Given the description of an element on the screen output the (x, y) to click on. 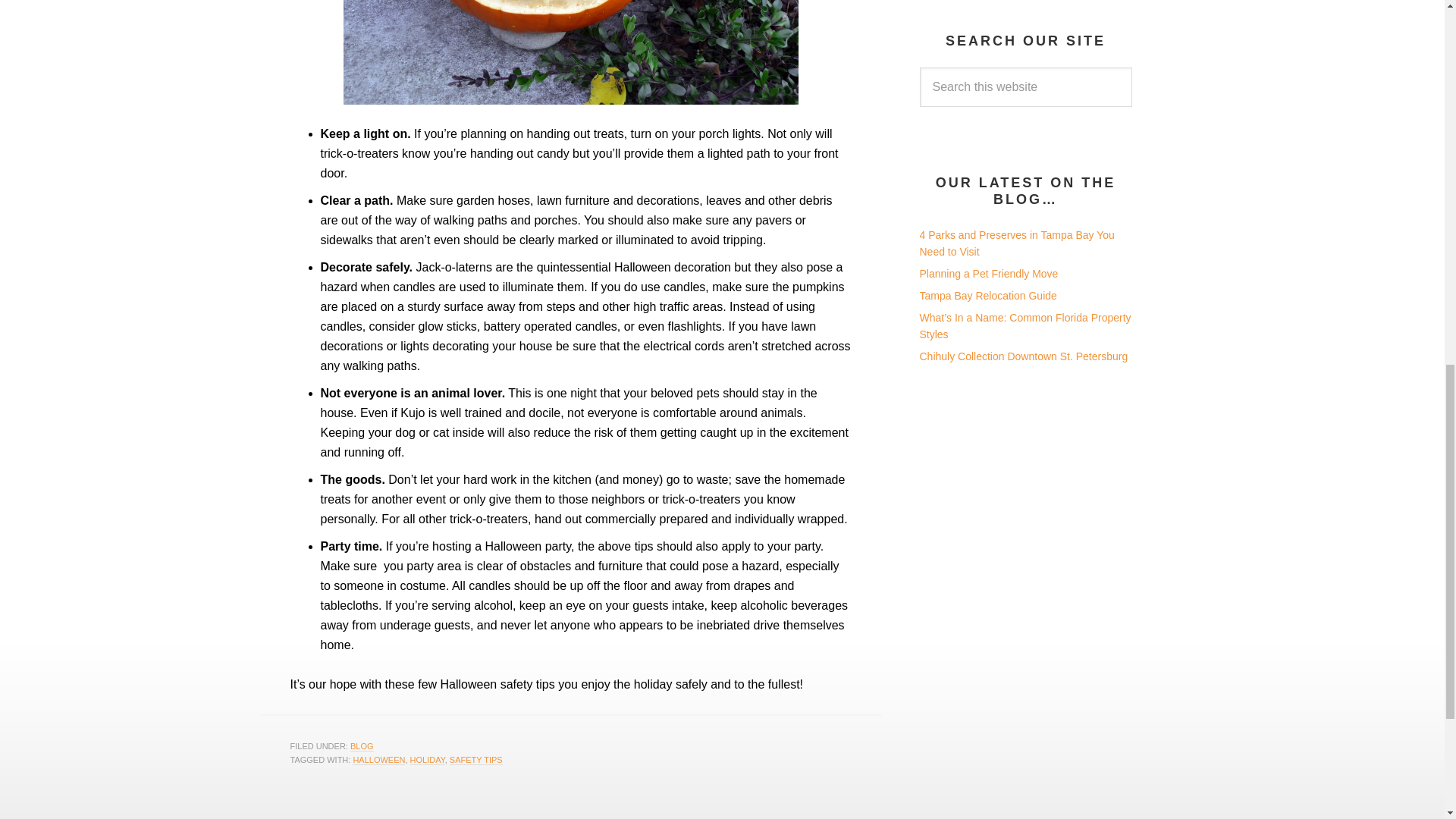
4 Parks and Preserves in Tampa Bay You Need to Visit (1015, 243)
SAFETY TIPS (475, 759)
HALLOWEEN (378, 759)
Chihuly Collection Downtown St. Petersburg (1022, 356)
Tampa Bay Relocation Guide (987, 295)
HOLIDAY (427, 759)
BLOG (362, 746)
Planning a Pet Friendly Move (988, 273)
